Given the description of an element on the screen output the (x, y) to click on. 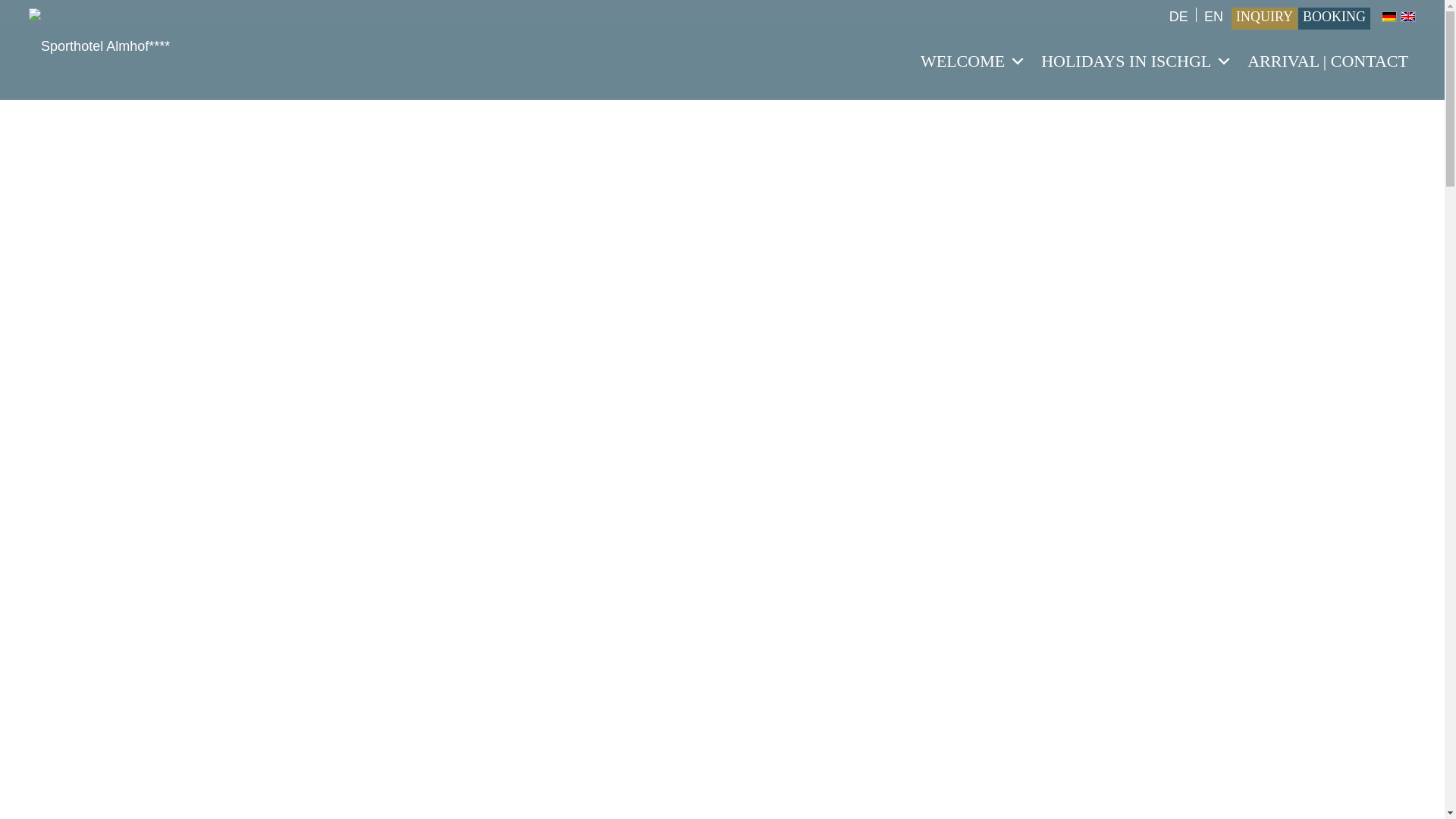
EN (1407, 16)
WELCOME (972, 61)
BOOKING (1334, 16)
HOLIDAYS IN ISCHGL (1136, 61)
INQUIRY (1264, 16)
DE (1388, 16)
